Given the description of an element on the screen output the (x, y) to click on. 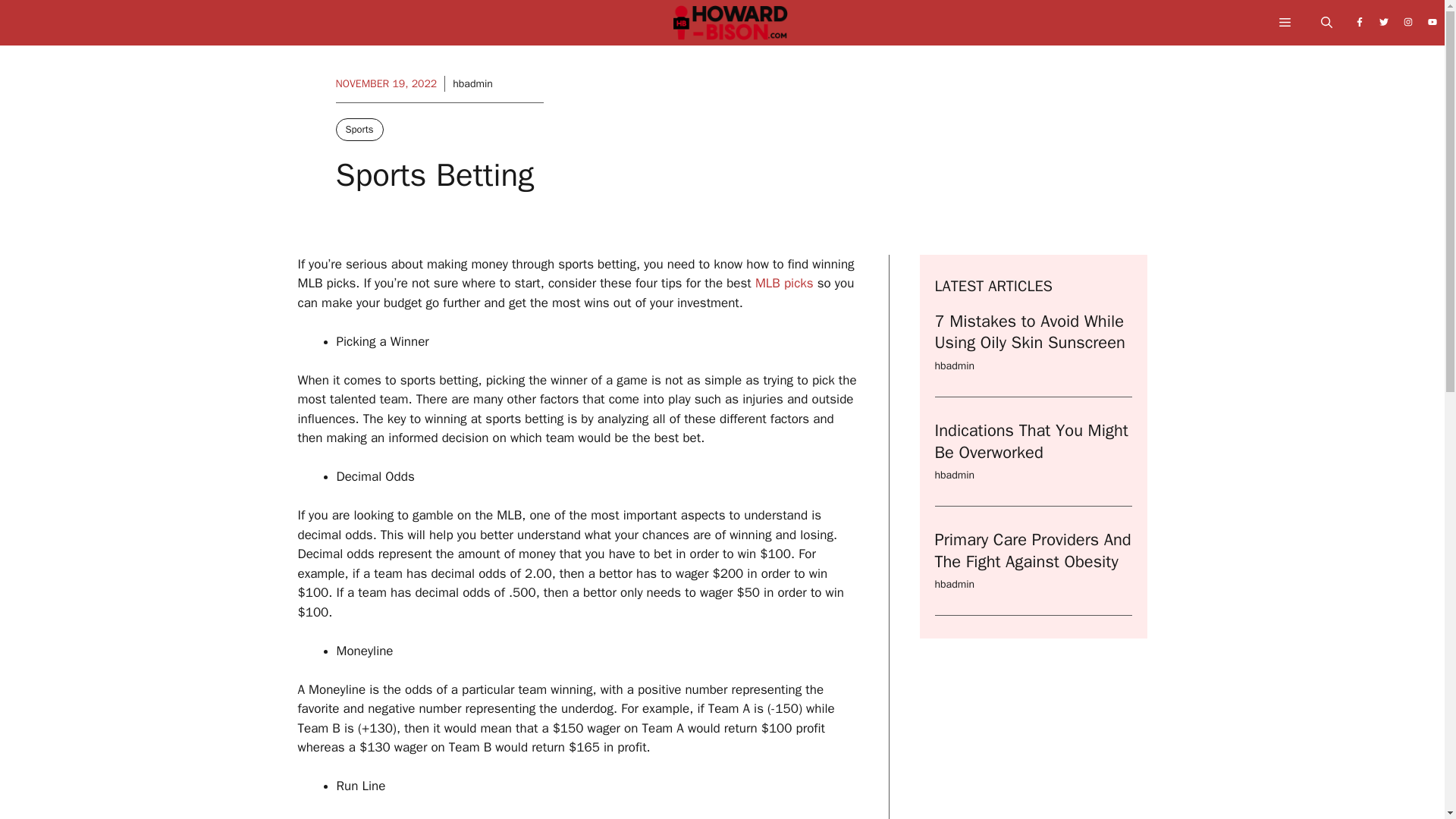
hbadmin (954, 584)
MLB picks (784, 283)
hbadmin (954, 474)
7 Mistakes to Avoid While Using Oily Skin Sunscreen (1029, 332)
Howard University Bison (729, 26)
hbadmin (954, 365)
Sports (358, 128)
hbadmin (472, 83)
Primary Care Providers And The Fight Against Obesity (1032, 550)
Indications That You Might Be Overworked (1030, 441)
